Given the description of an element on the screen output the (x, y) to click on. 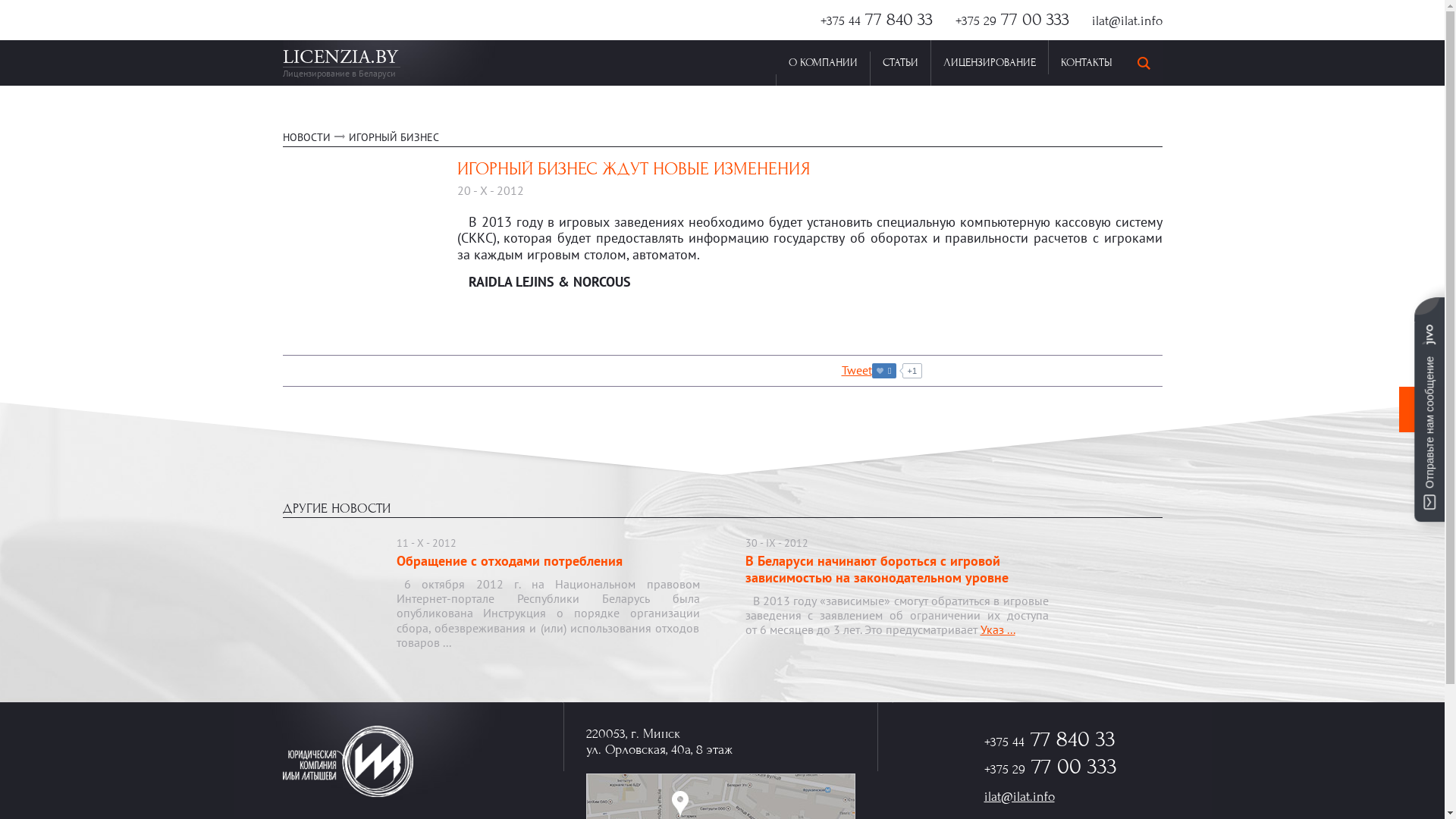
Tweet Element type: text (856, 369)
ilat@ilat.info Element type: text (1127, 20)
ilat@ilat.info Element type: text (1019, 796)
